Given the description of an element on the screen output the (x, y) to click on. 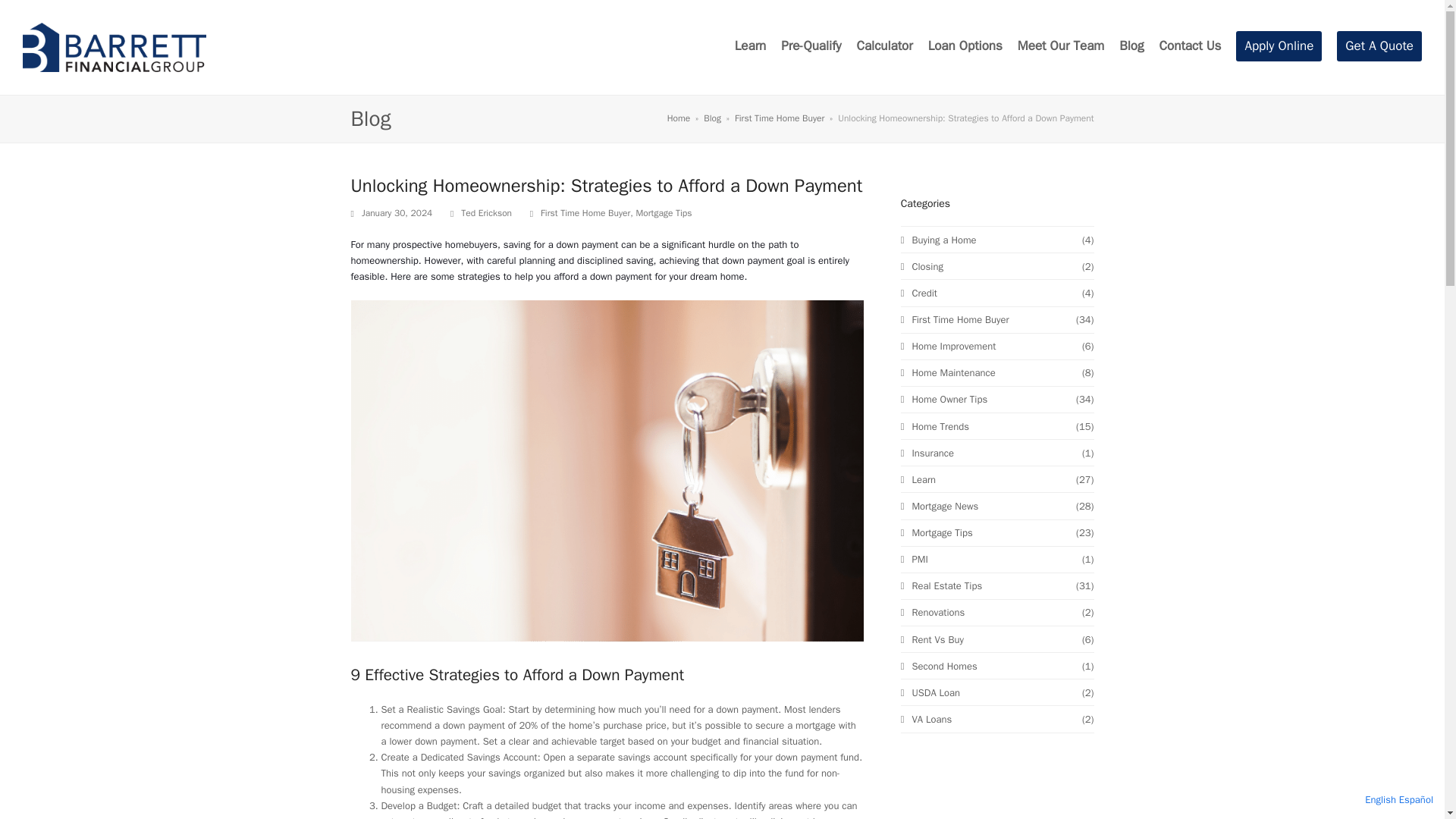
Learn (918, 479)
Home Trends (935, 426)
Home Improvement (948, 345)
Loan Options (965, 46)
First Time Home Buyer (955, 318)
Pre-Qualify (810, 46)
Meet Our Team (1060, 46)
First Time Home Buyer (779, 118)
Home Owner Tips (944, 399)
Contact Us (1189, 46)
Ted Erickson (486, 213)
Apply Online (1279, 46)
Meet Our Team (1060, 46)
Credit (919, 292)
Pre-Qualify (810, 46)
